Given the description of an element on the screen output the (x, y) to click on. 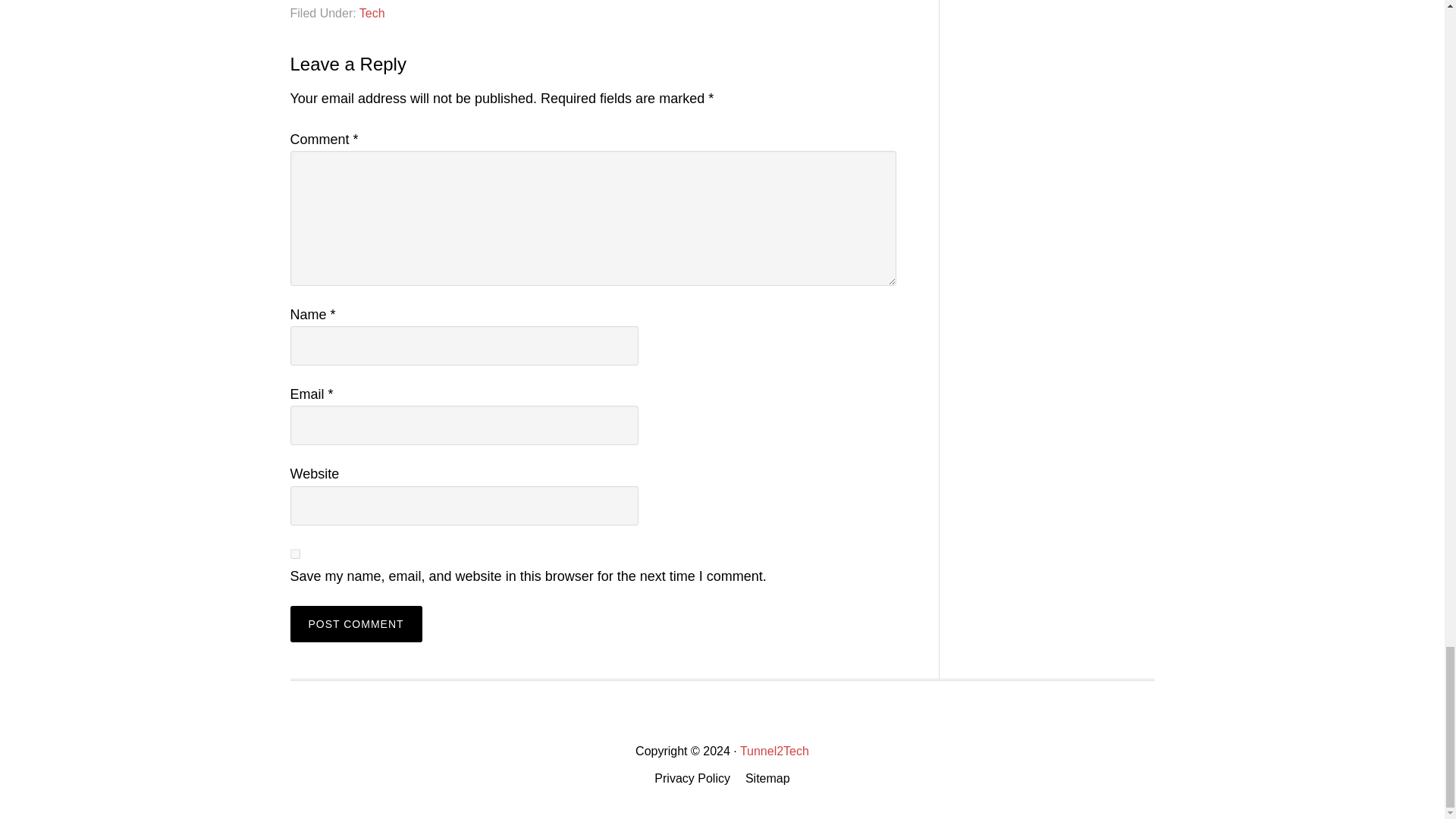
Post Comment (355, 624)
yes (294, 553)
Post Comment (355, 624)
Tech (372, 12)
